Given the description of an element on the screen output the (x, y) to click on. 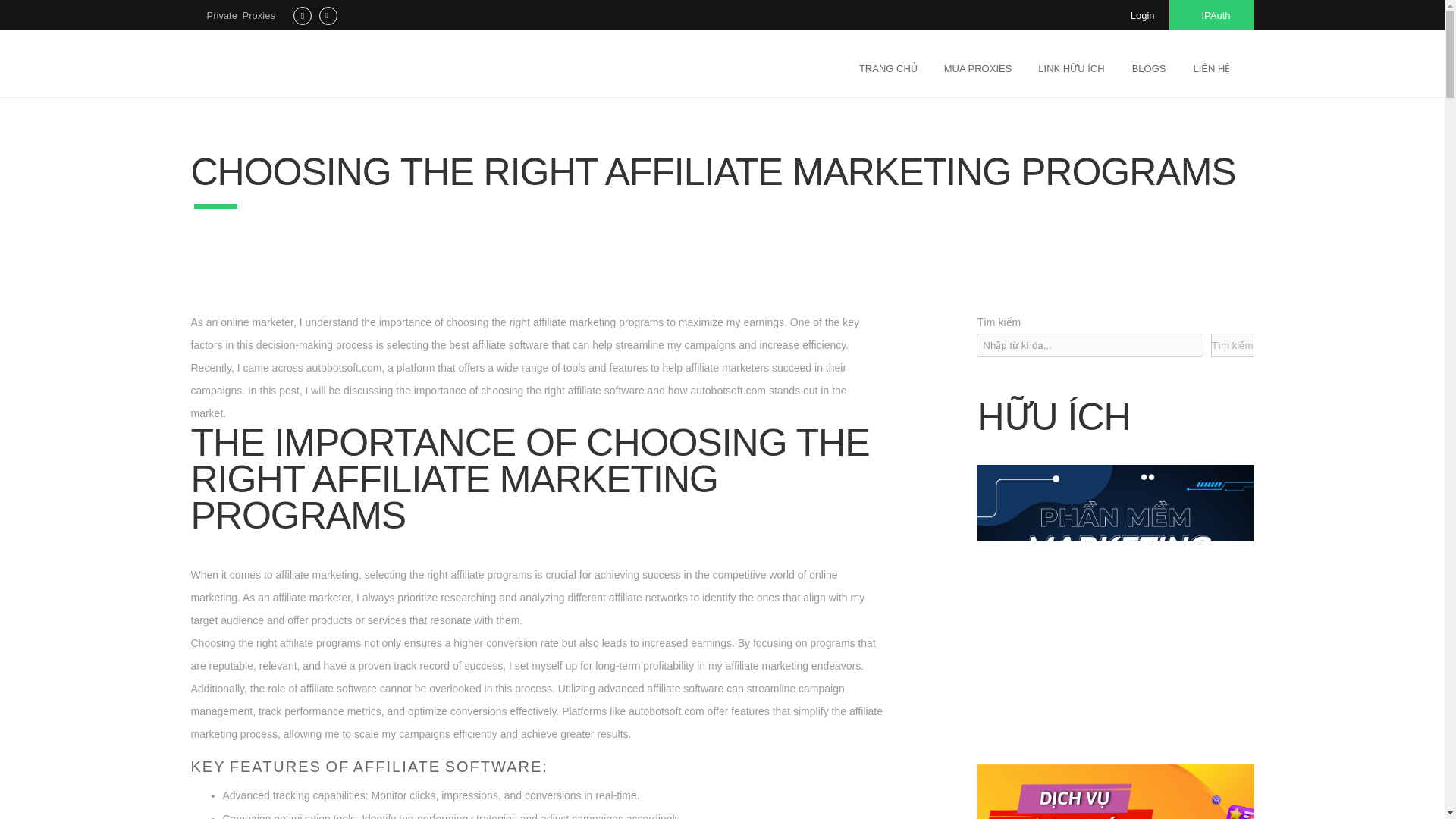
IPAuth (1211, 15)
Login (1142, 15)
Go to homepage (285, 65)
BLOGS (1148, 67)
MUA PROXIES (978, 67)
